Given the description of an element on the screen output the (x, y) to click on. 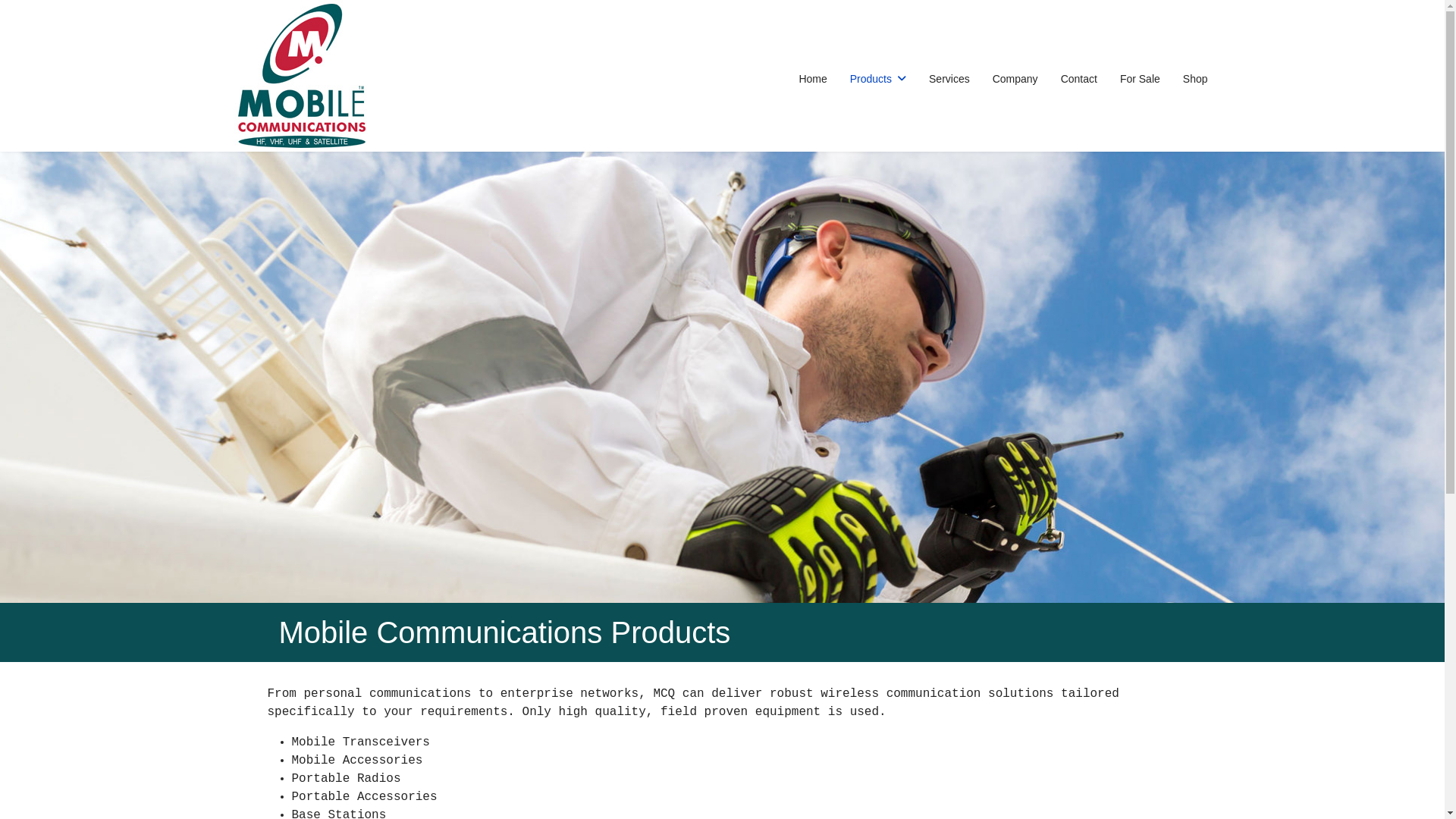
Products Element type: text (877, 78)
Contact Element type: text (1078, 78)
For Sale Element type: text (1139, 78)
Services Element type: text (949, 78)
Home Element type: text (812, 78)
Company Element type: text (1015, 78)
Shop Element type: text (1189, 78)
